Given the description of an element on the screen output the (x, y) to click on. 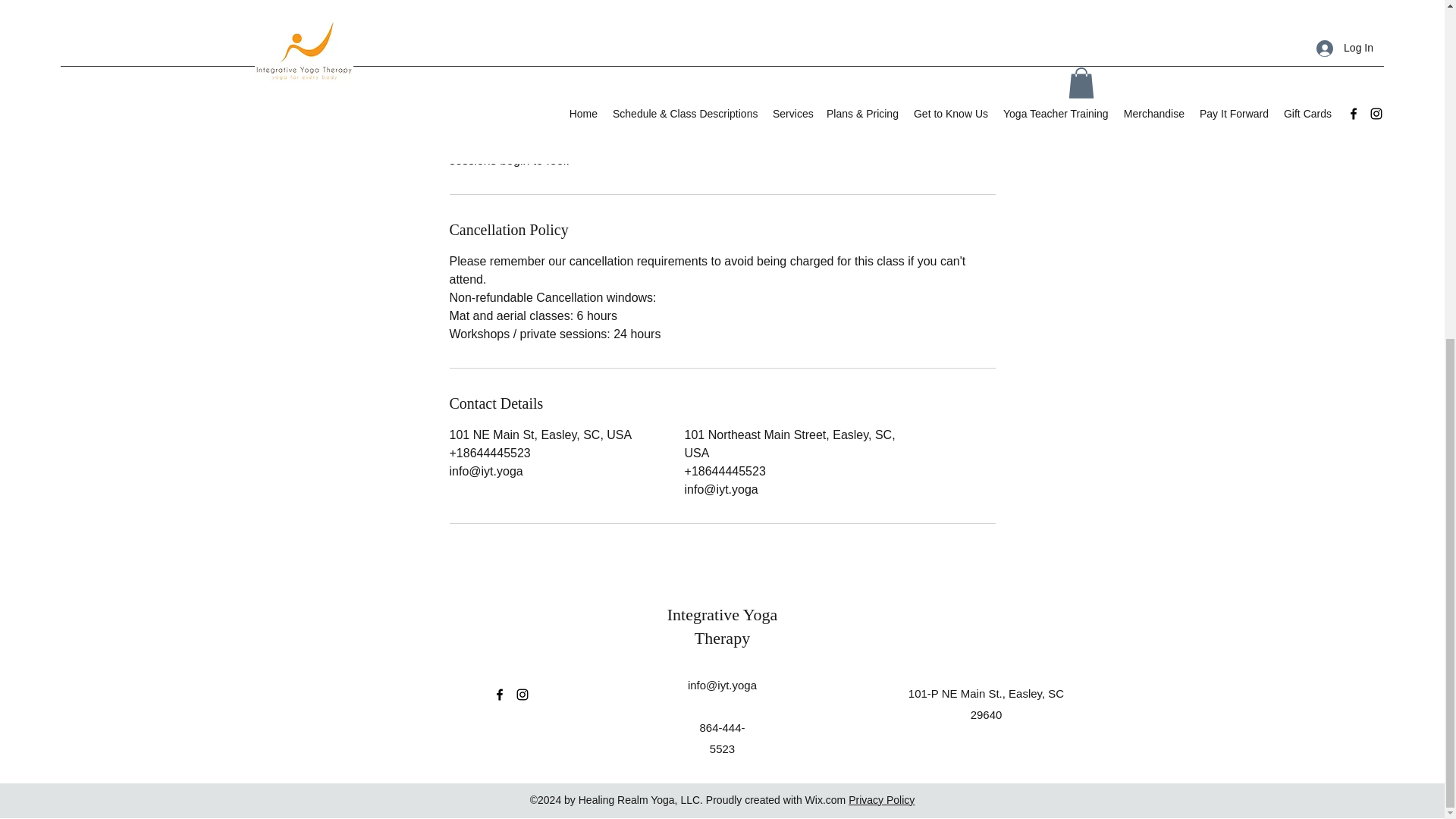
Privacy Policy (881, 799)
101-P NE Main St., Easley, SC 29640 (986, 704)
Integrative Yoga Therapy (721, 626)
